Given the description of an element on the screen output the (x, y) to click on. 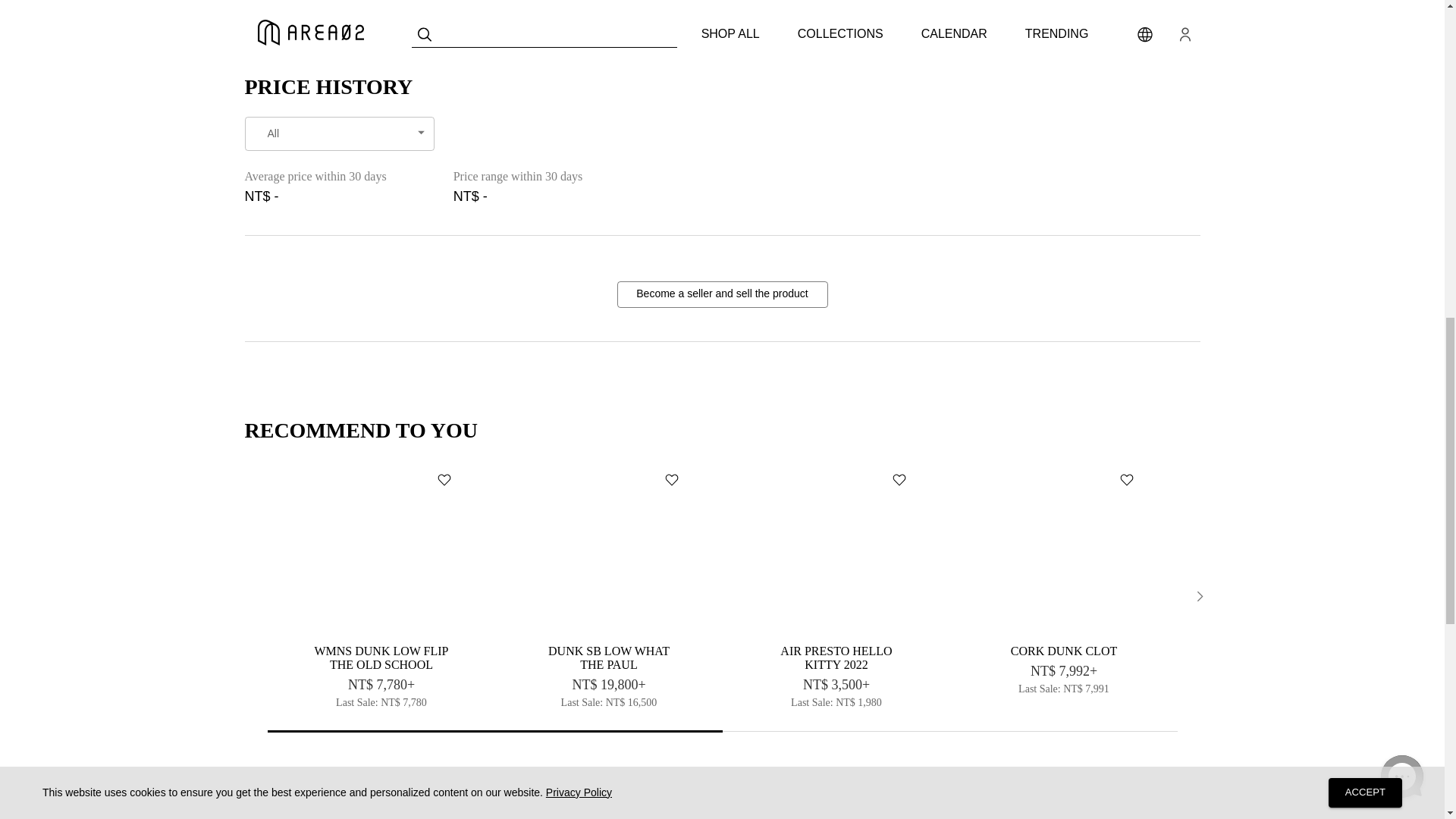
Become a seller and sell the product (722, 294)
